Given the description of an element on the screen output the (x, y) to click on. 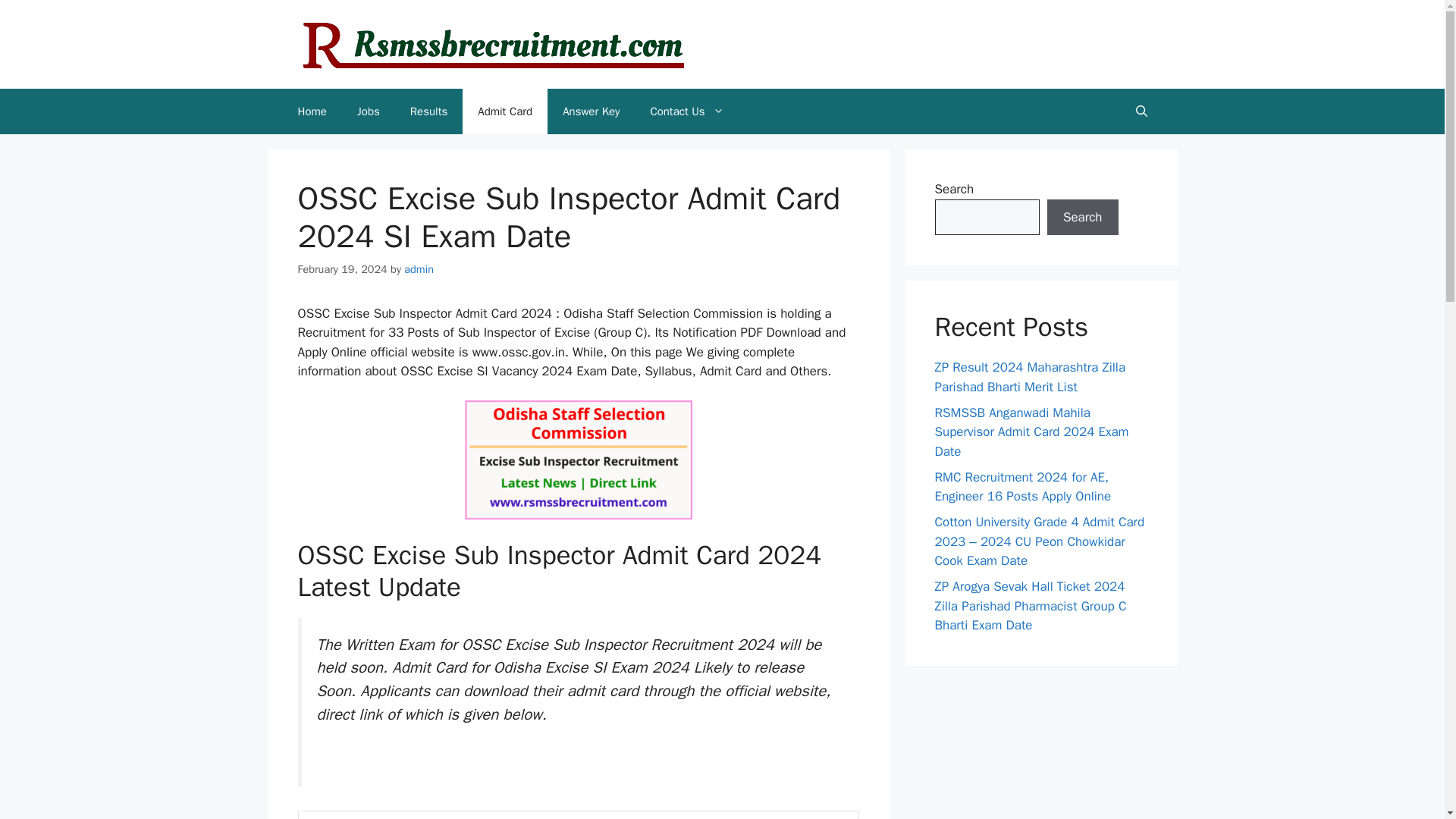
RSMSSB Anganwadi Mahila Supervisor Admit Card 2024 Exam Date (1031, 431)
Jobs (368, 111)
Results (428, 111)
ZP Result 2024 Maharashtra Zilla Parishad Bharti Merit List (1029, 376)
View all posts by admin (418, 269)
Answer Key (590, 111)
Admit Card (505, 111)
RMC Recruitment 2024 for AE, Engineer 16 Posts Apply Online (1022, 486)
Search (1082, 217)
